Given the description of an element on the screen output the (x, y) to click on. 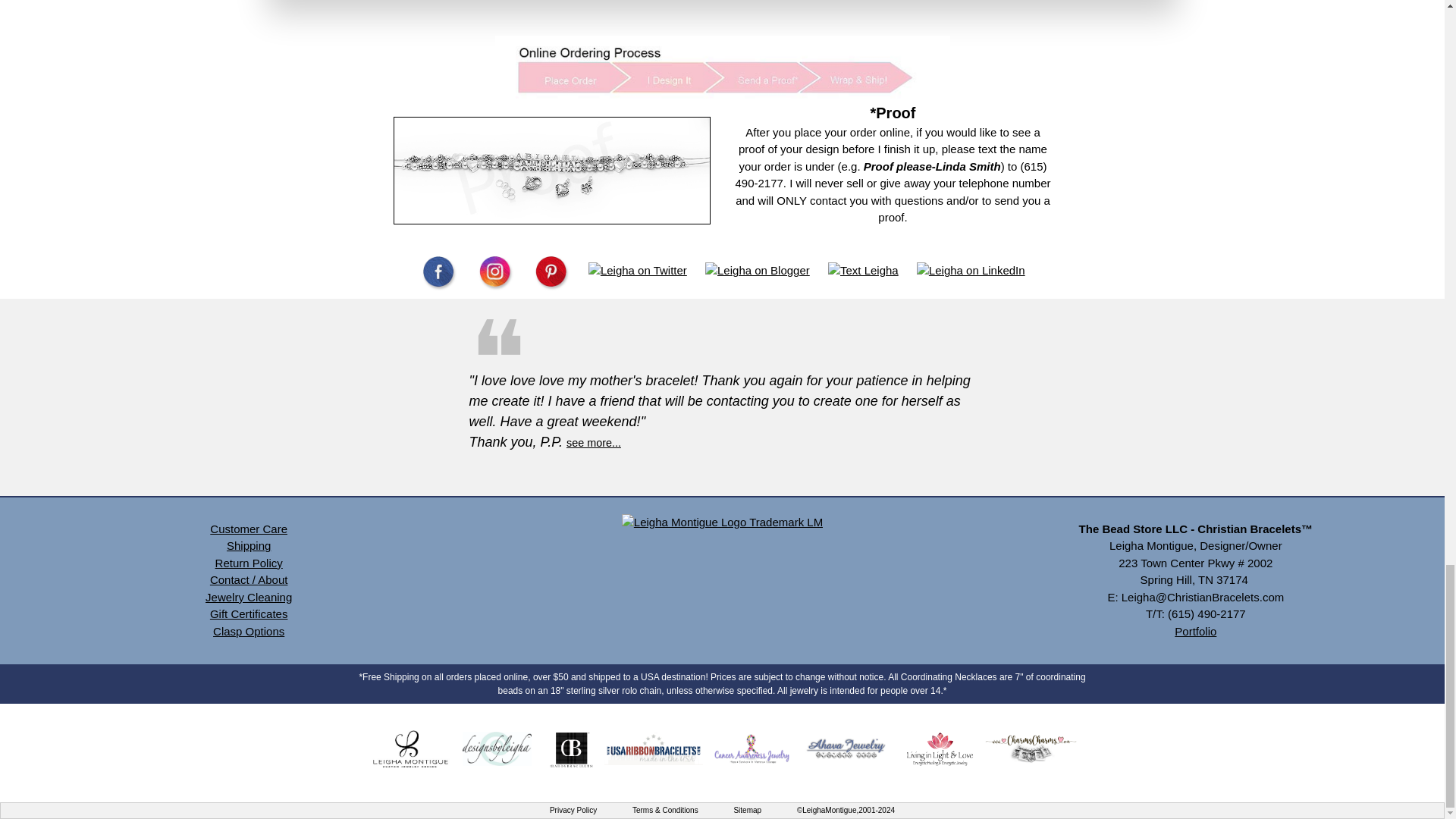
Portfolio (1194, 631)
Gift Certificates (248, 613)
see more... (593, 441)
Return Policy (248, 562)
Customer Care (247, 528)
About (271, 579)
Jewelry Cleaning (248, 596)
Clasp Options (247, 631)
Shipping (248, 545)
